Given the description of an element on the screen output the (x, y) to click on. 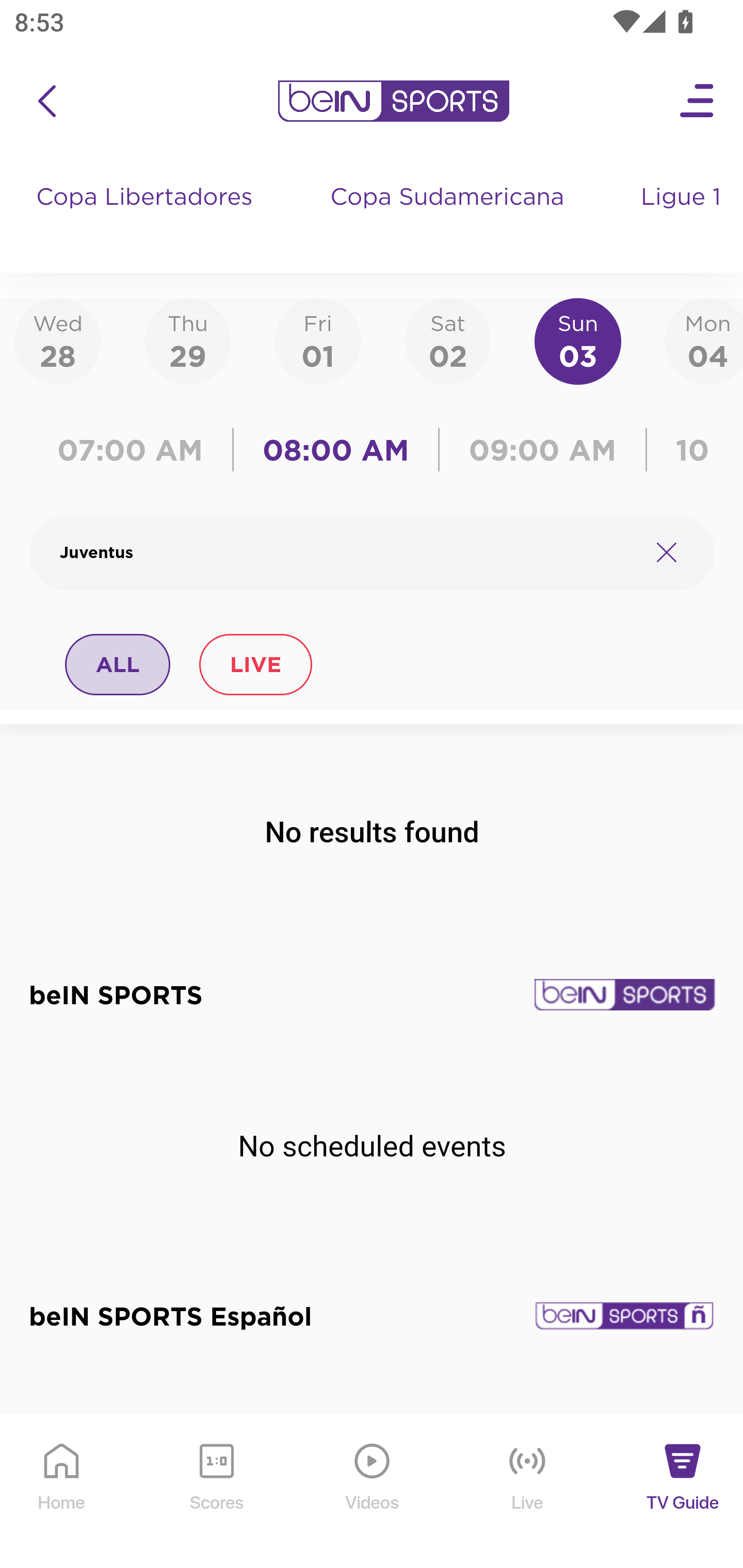
en-us?platform=mobile_android bein logo (392, 101)
icon back (46, 101)
Open Menu Icon (697, 101)
Copa Libertadores (146, 216)
Copa Sudamericana (448, 216)
Ligue 1 (682, 216)
Wed28 (58, 340)
Thu29 (187, 340)
Fri01 (318, 340)
Sat02 (447, 340)
Sun03 (578, 340)
Mon04 (703, 340)
07:00 AM (135, 449)
08:00 AM (336, 449)
09:00 AM (542, 449)
Juventus (346, 552)
ALL (118, 663)
LIVE (255, 663)
Home Home Icon Home (61, 1491)
Scores Scores Icon Scores (216, 1491)
Videos Videos Icon Videos (372, 1491)
TV Guide TV Guide Icon TV Guide (682, 1491)
